Given the description of an element on the screen output the (x, y) to click on. 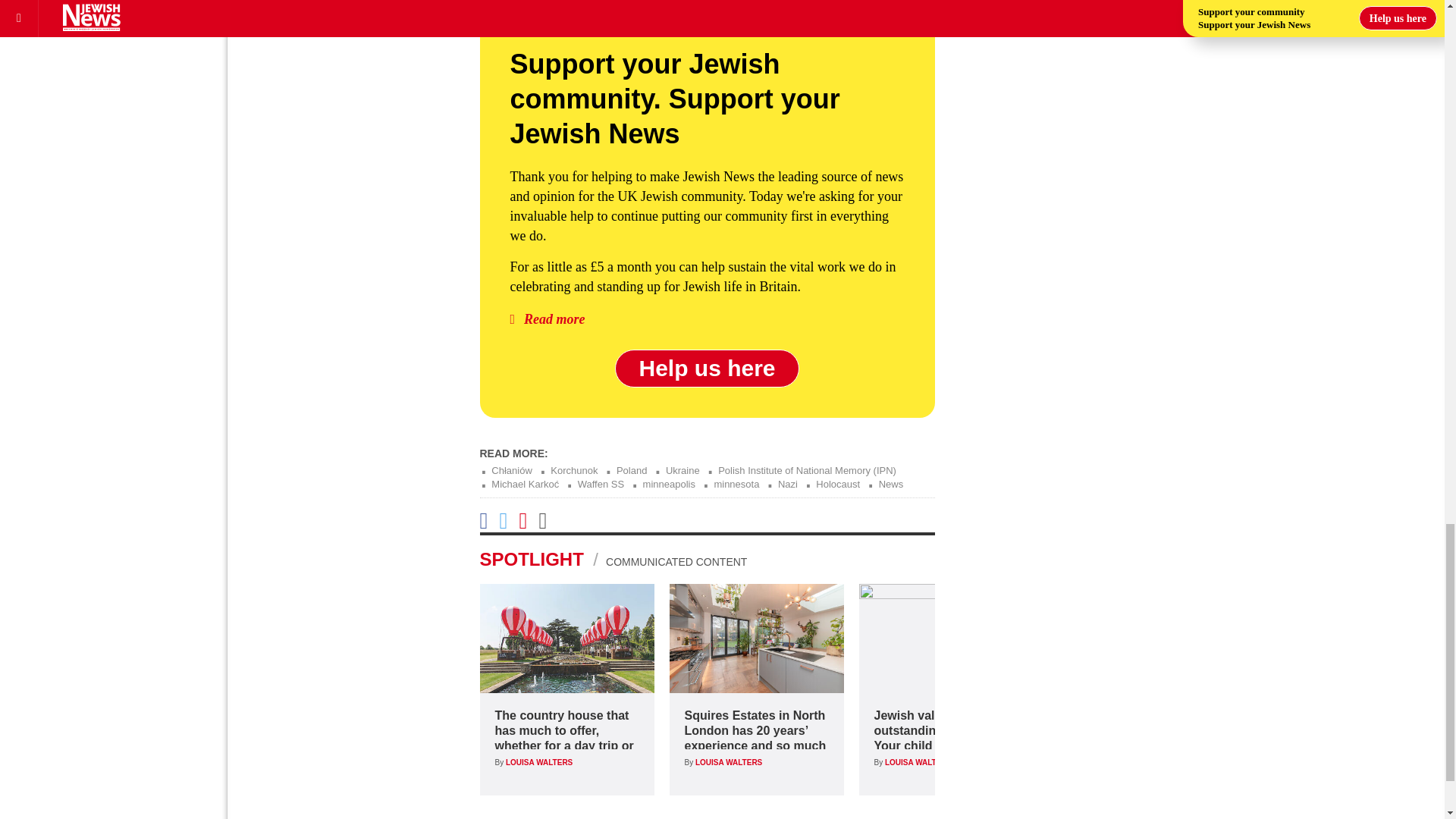
Louisa Walters (918, 762)
Louisa Walters (728, 762)
Feast on Cloud 9 at The Grove (566, 637)
Louisa Walters (538, 762)
